Given the description of an element on the screen output the (x, y) to click on. 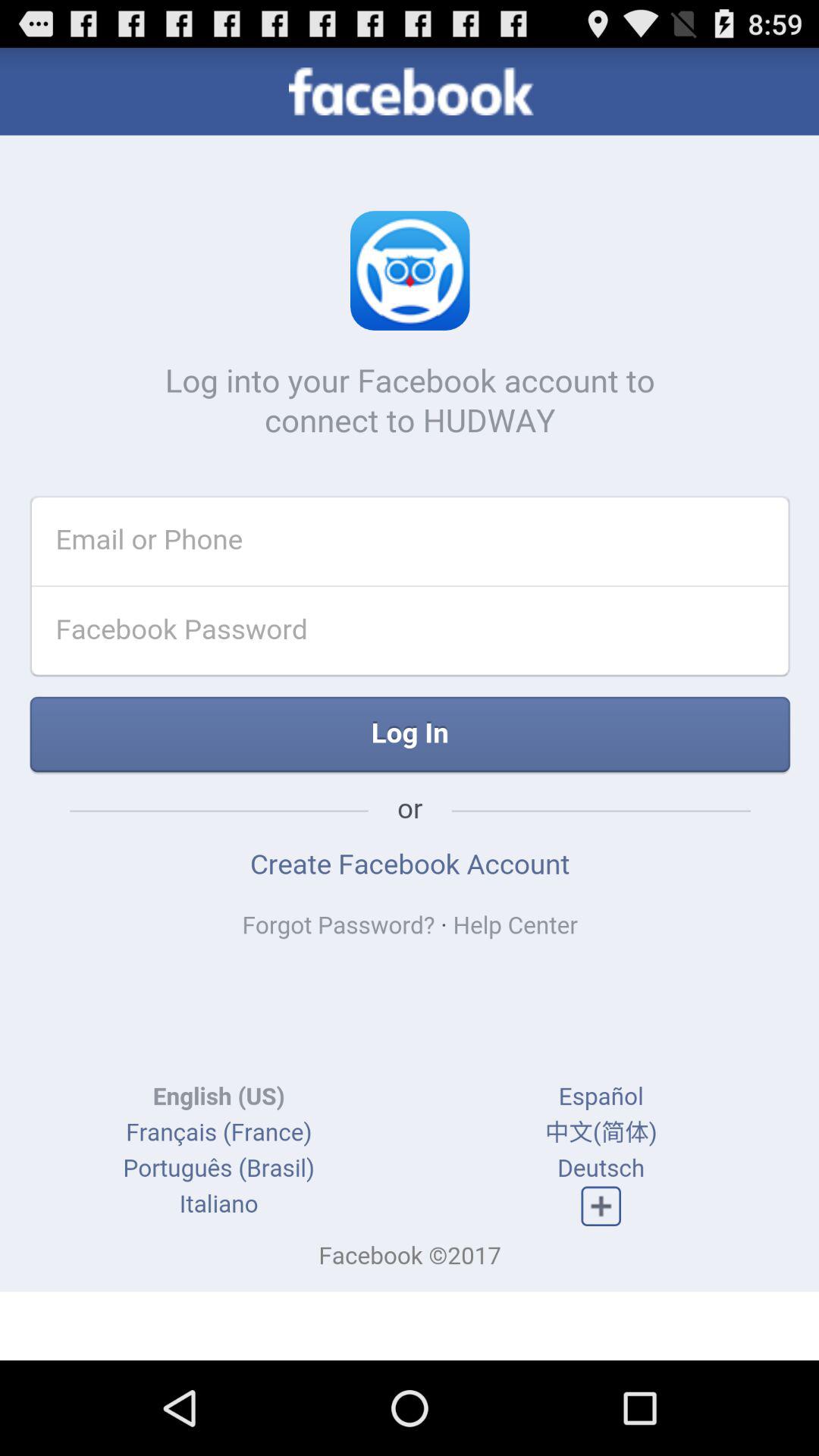
select the text which is immediately below facebook password (409, 740)
click on the text field facebook password (379, 639)
